Given the description of an element on the screen output the (x, y) to click on. 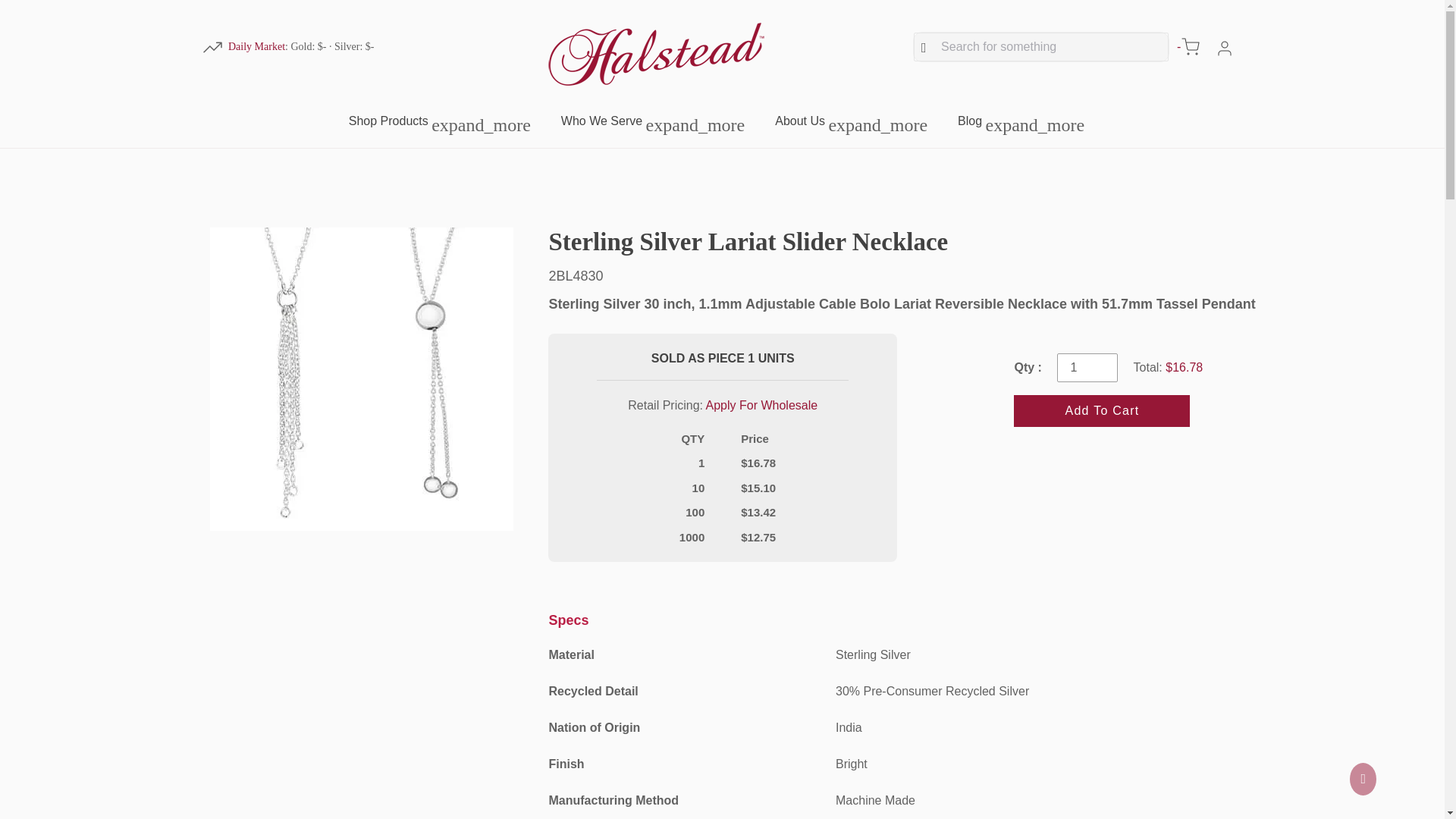
Daily Market Value (256, 45)
- (1188, 46)
Sterling Silver Lariat Slider Necklace (902, 242)
Search (1041, 46)
1 (1087, 367)
Daily Market (256, 45)
Manage your account (1224, 46)
